Given the description of an element on the screen output the (x, y) to click on. 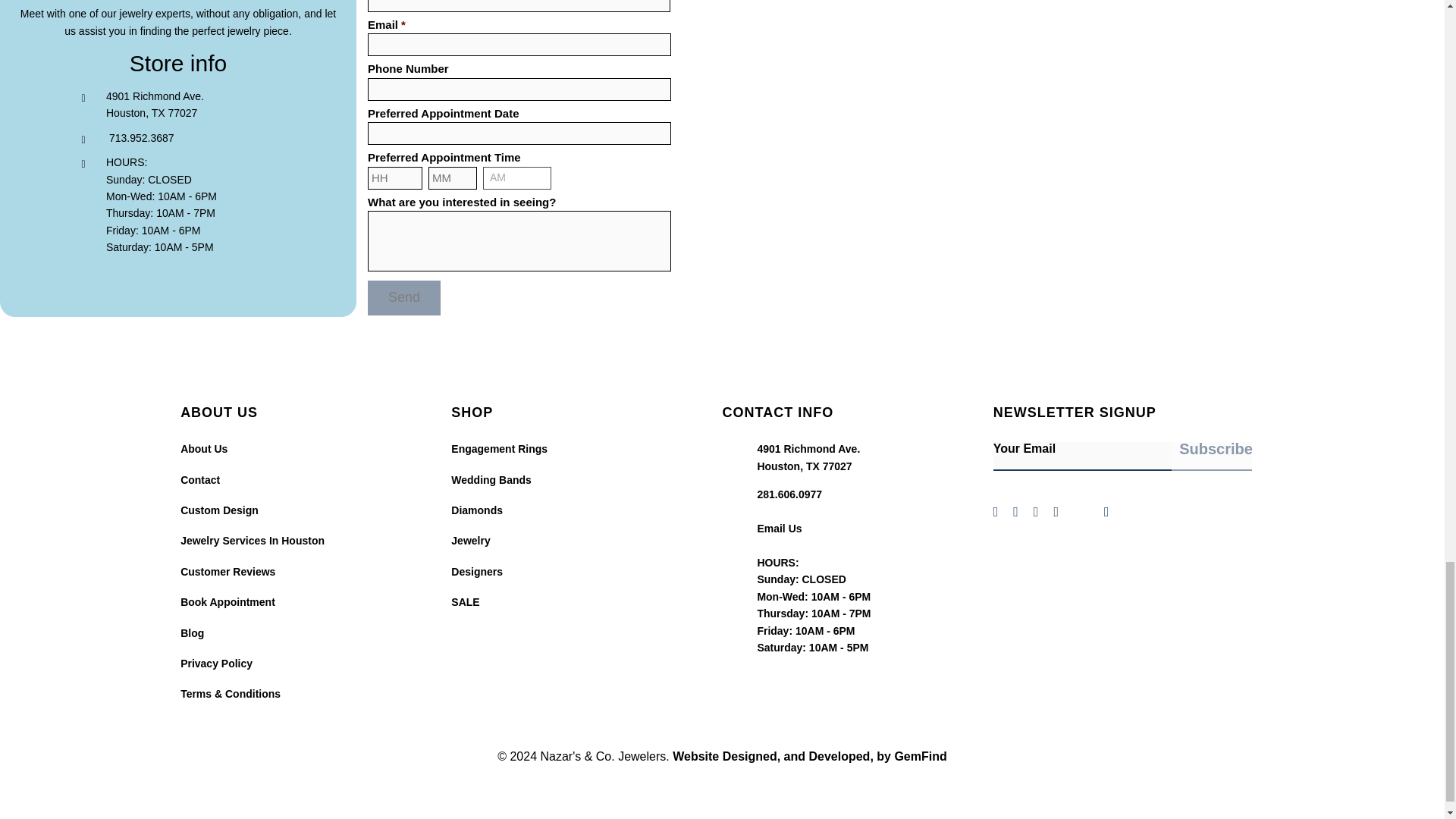
Subscribe (1212, 454)
Send (404, 297)
